Given the description of an element on the screen output the (x, y) to click on. 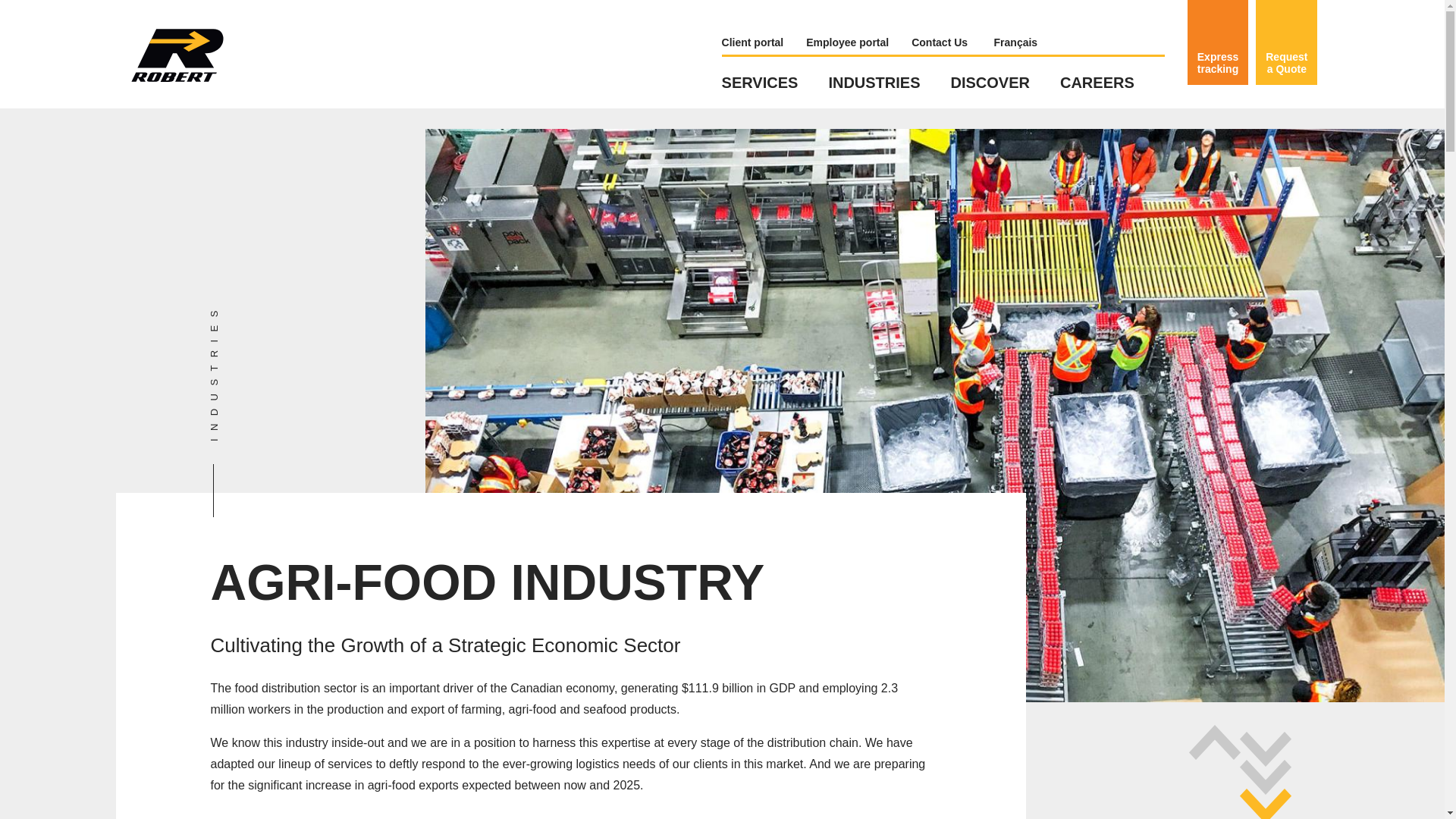
INDUSTRIES (889, 82)
Employee portal (858, 42)
SERVICES (775, 82)
Client portal (764, 42)
DISCOVER (1004, 82)
Contact Us (950, 42)
